Given the description of an element on the screen output the (x, y) to click on. 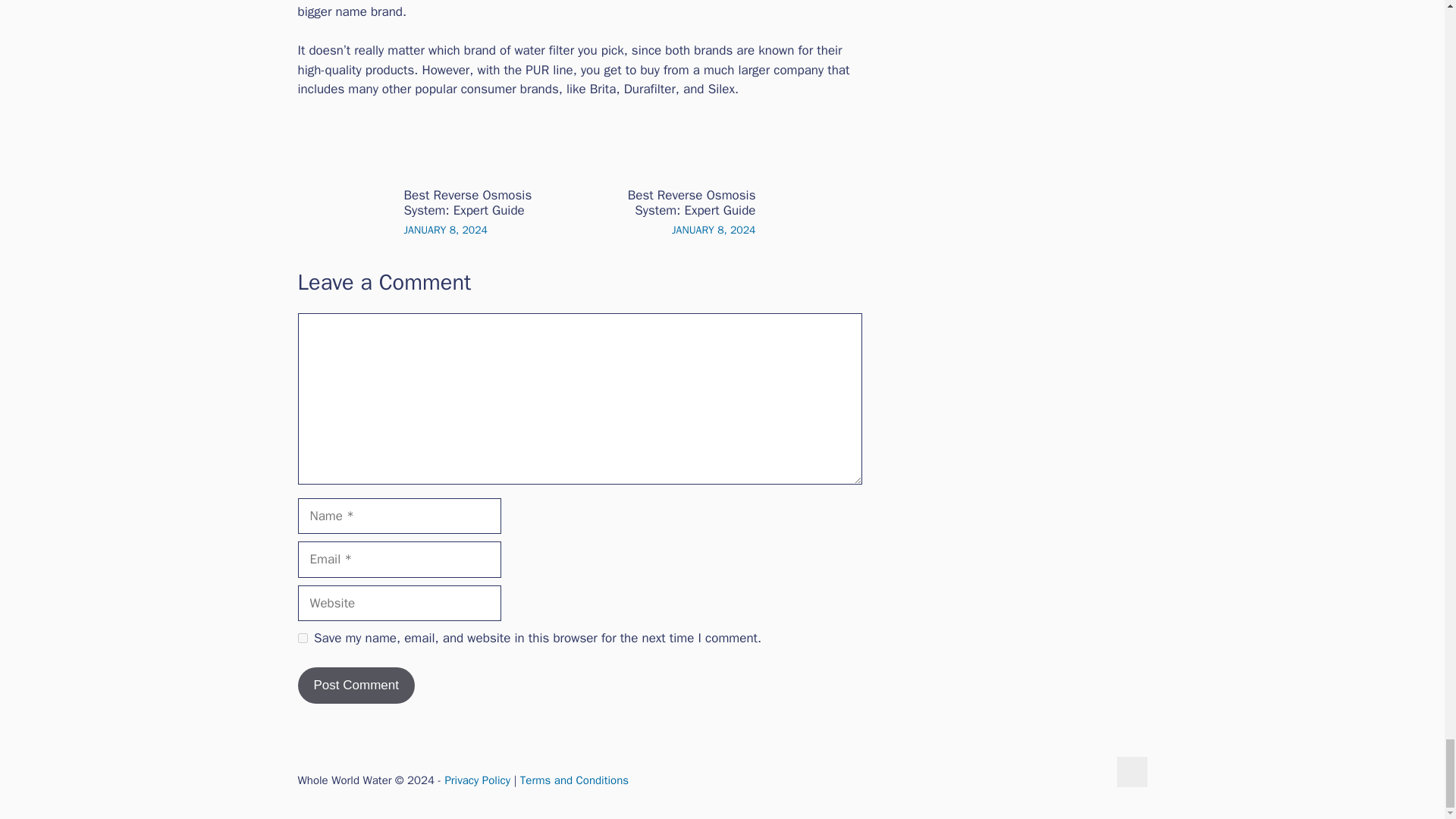
yes (302, 637)
Best Reverse Osmosis System: Expert Guide (691, 202)
Post Comment (355, 685)
Post Comment (355, 685)
Privacy Policy (477, 780)
Terms and Conditions (573, 780)
Best Reverse Osmosis System: Expert Guide (467, 202)
